Given the description of an element on the screen output the (x, y) to click on. 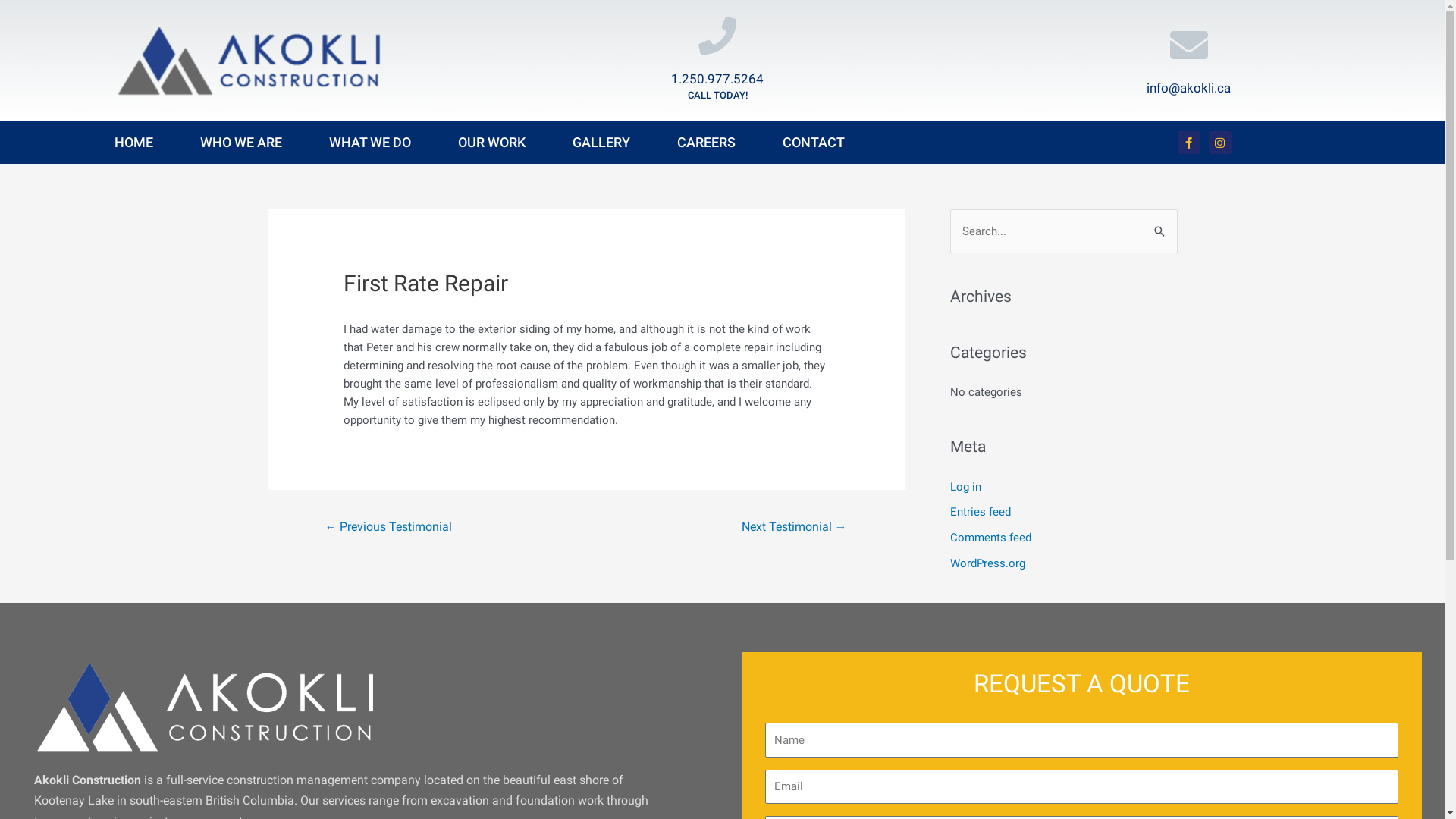
1.250.977.5264 Element type: text (717, 78)
CAREERS Element type: text (706, 142)
OUR WORK Element type: text (491, 142)
WHAT WE DO Element type: text (369, 142)
HOME Element type: text (133, 142)
Search Element type: text (1160, 229)
GALLERY Element type: text (601, 142)
Comments feed Element type: text (989, 537)
Instagram Element type: text (1219, 142)
Log in Element type: text (964, 485)
info@akokli.ca Element type: text (1188, 87)
WordPress.org Element type: text (986, 563)
CONTACT Element type: text (813, 142)
Entries feed Element type: text (979, 511)
Facebook-f Element type: text (1188, 142)
WHO WE ARE Element type: text (240, 142)
